Given the description of an element on the screen output the (x, y) to click on. 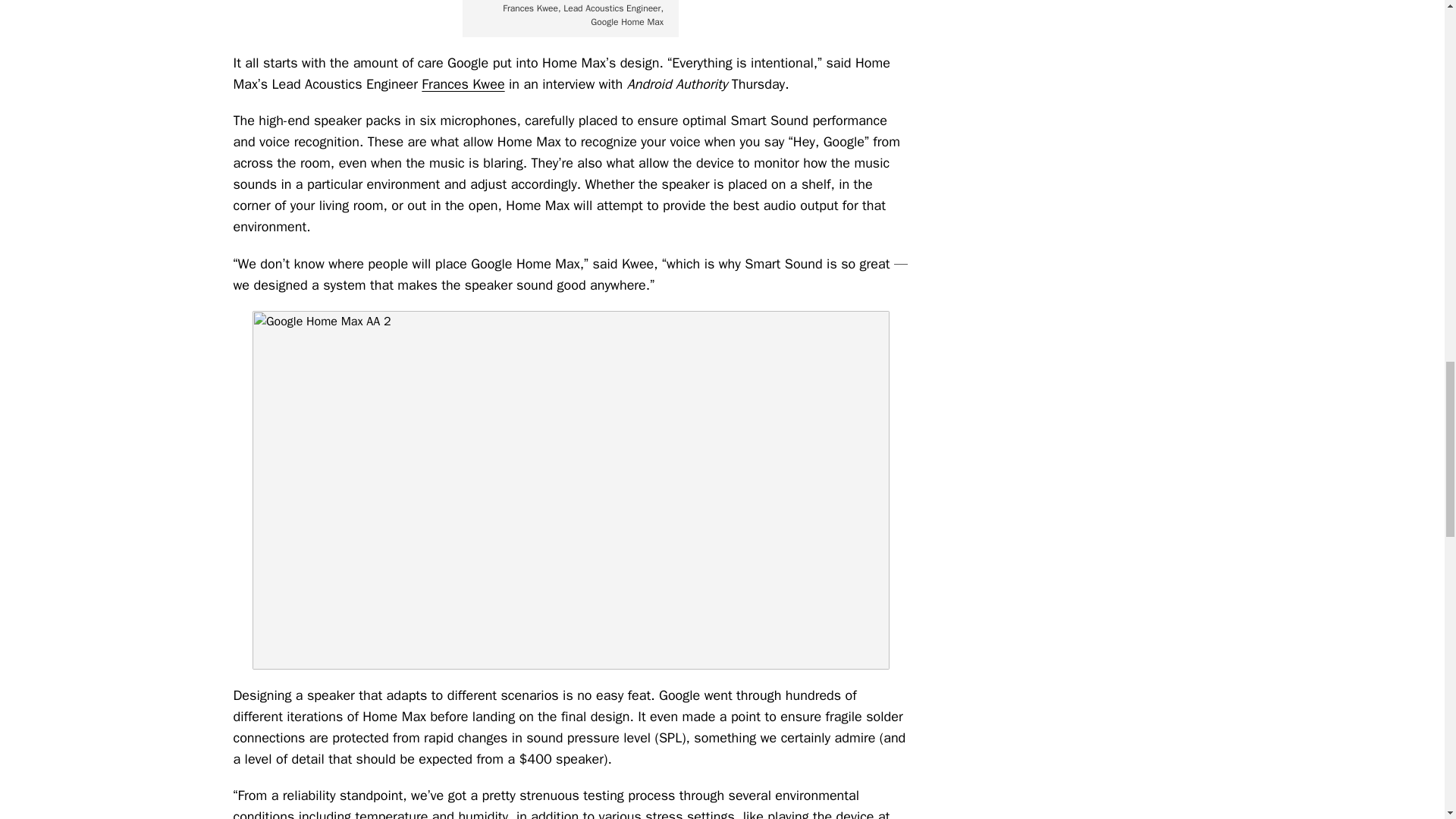
Frances Kwee (462, 84)
